Given the description of an element on the screen output the (x, y) to click on. 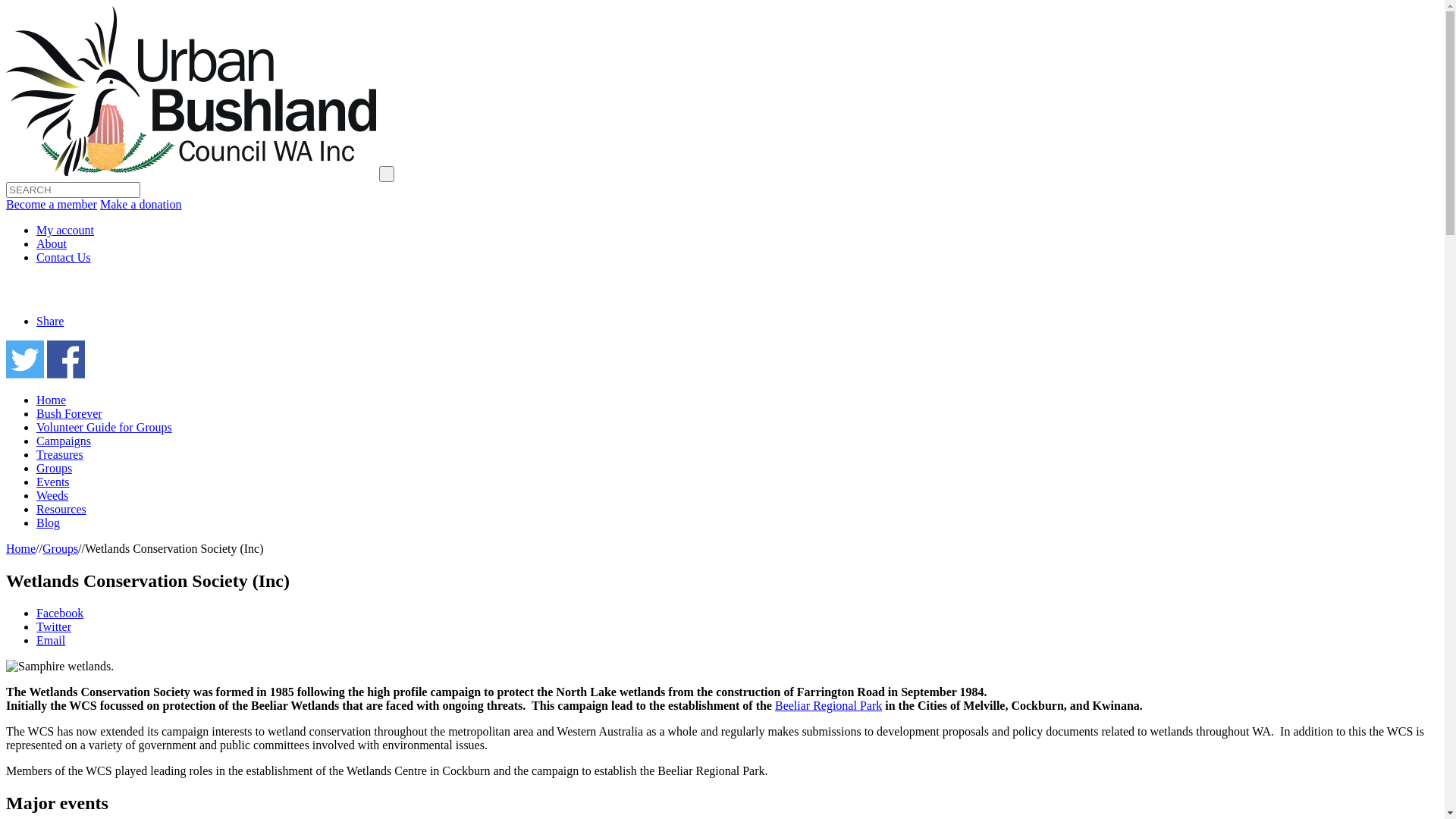
Contact Us Element type: text (63, 257)
Skip to content Element type: text (5, 5)
Bush Forever Element type: text (69, 413)
Campaigns Element type: text (63, 440)
Urban Bushland Council WA Element type: hover (191, 91)
Treasures Element type: text (59, 454)
Beeliar Regional Park Element type: text (828, 705)
Twitter Element type: text (53, 626)
  Element type: text (386, 174)
Home Element type: text (50, 399)
Volunteer Guide for Groups Element type: text (104, 426)
Blog Element type: text (47, 522)
Make a donation Element type: text (141, 203)
About Element type: text (51, 243)
Events Element type: text (52, 481)
Resources Element type: text (61, 508)
Weeds Element type: text (52, 495)
Groups Element type: text (54, 467)
Groups Element type: text (60, 548)
Home Element type: text (20, 548)
Email Element type: text (50, 639)
Share Element type: text (49, 320)
Become a member Element type: text (51, 203)
My account Element type: text (65, 229)
Facebook Element type: text (59, 612)
